Given the description of an element on the screen output the (x, y) to click on. 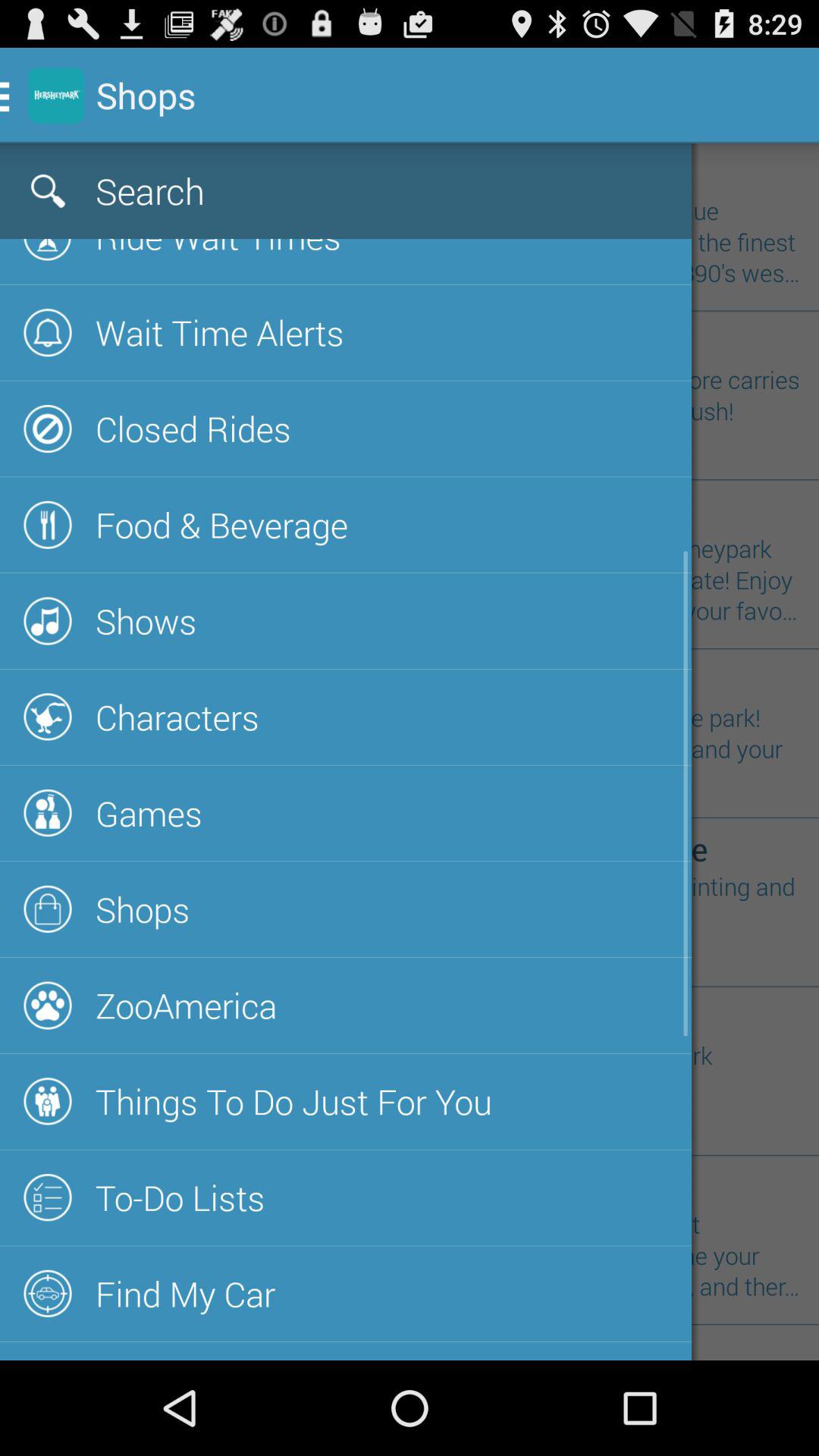
click on the icon beside closed rides (48, 428)
click on the icon next to things to do just for you (48, 1101)
click on the first icon below search icon (48, 249)
select the icon which is above the wait time alerts (48, 249)
